Given the description of an element on the screen output the (x, y) to click on. 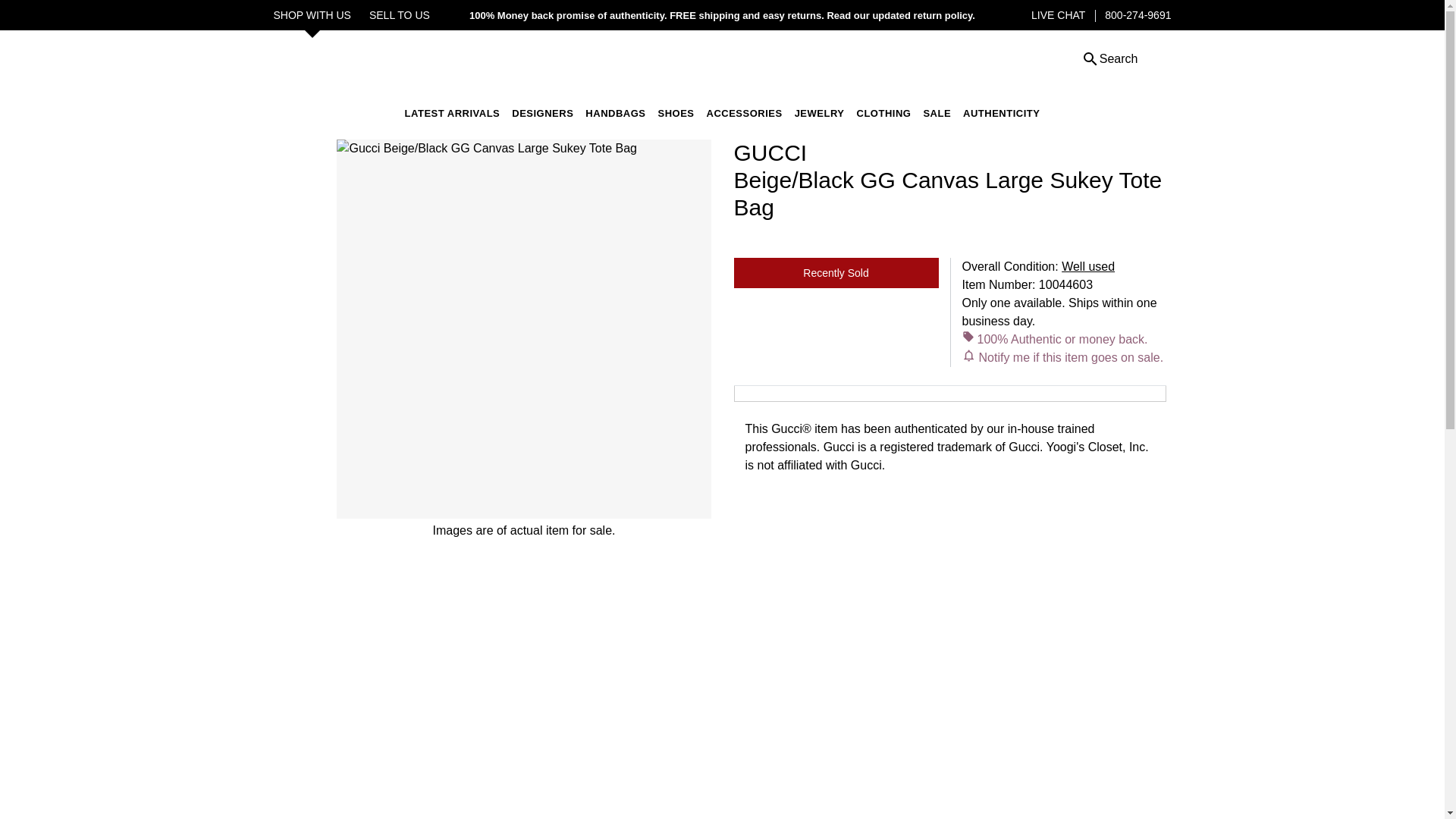
Bell Outline icon (967, 355)
LATEST ARRIVALS (452, 112)
SHOP WITH US (311, 15)
800-274-9691 (1137, 15)
Tag icon (967, 336)
Magnify icon (1090, 58)
SELL TO US (399, 15)
LIVE CHAT (1057, 15)
DESIGNERS (542, 112)
